Given the description of an element on the screen output the (x, y) to click on. 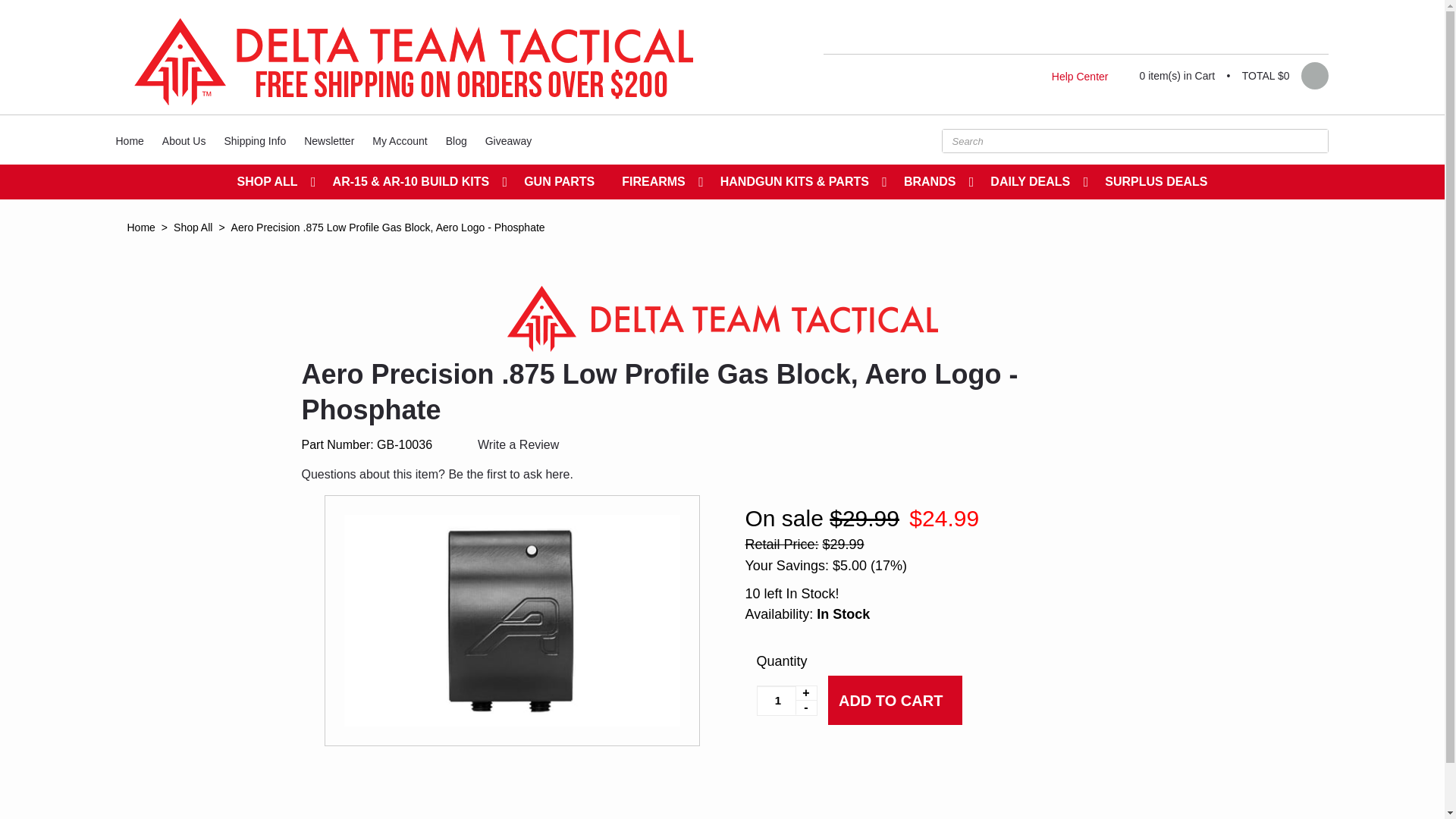
My Account (398, 140)
Shipping Info (254, 140)
Help Center (1080, 76)
Home (129, 140)
SHOP ALL (271, 181)
Blog (456, 140)
1 (786, 700)
Newsletter (328, 140)
Giveaway (508, 140)
SEARCH ICO (1312, 140)
